Given the description of an element on the screen output the (x, y) to click on. 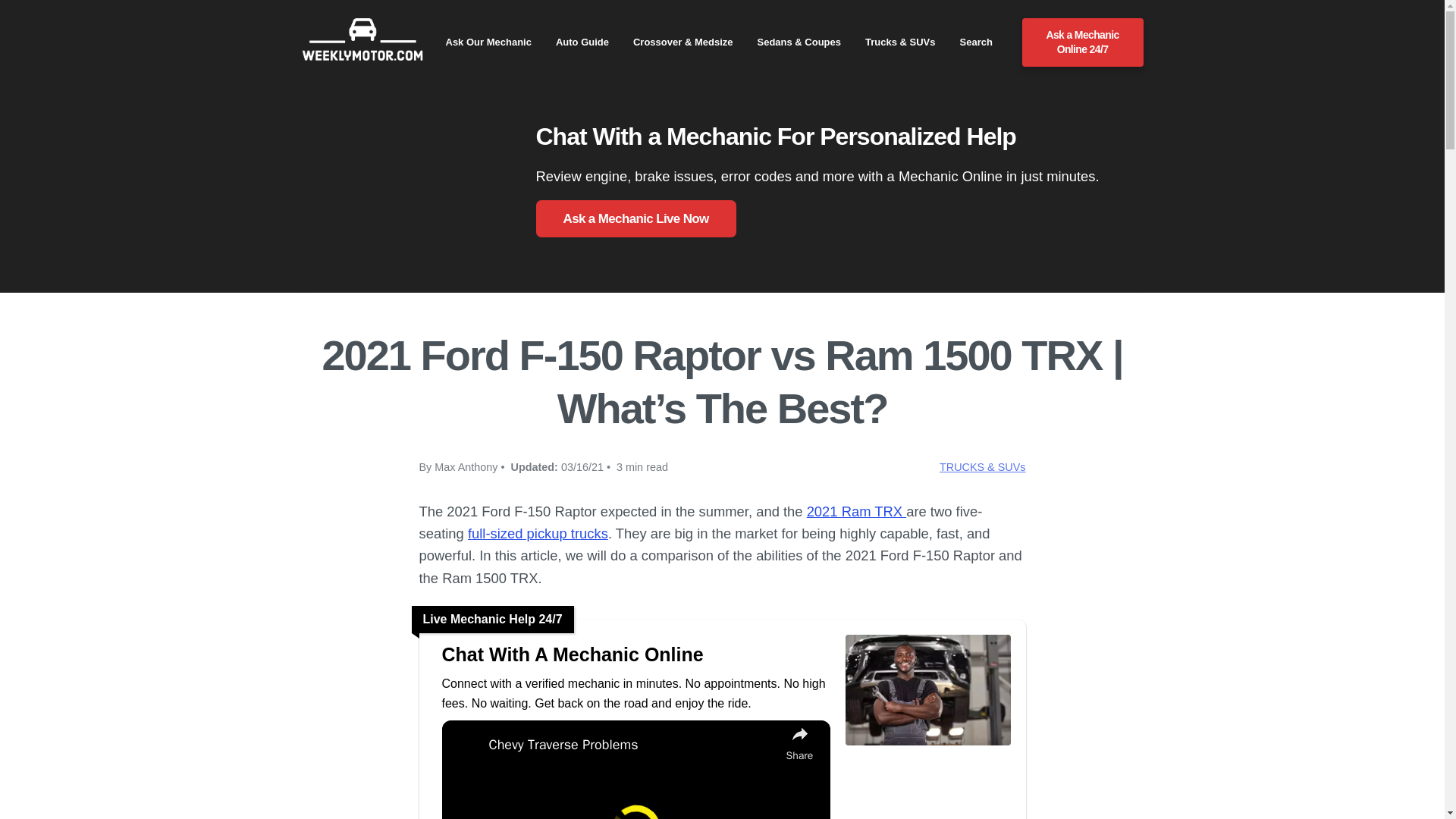
Auto Guide (582, 42)
full-sized pickup trucks (537, 533)
Chat With A Mechanic Online (635, 654)
Chevy Traverse Problems (632, 744)
Ask Our Mechanic (488, 42)
2021 Ram TRX (856, 511)
Ask a Mechanic Live Now (635, 218)
Chat With A Mechanic Online (635, 654)
Search (975, 42)
Chat With A Mechanic Online (927, 743)
